Given the description of an element on the screen output the (x, y) to click on. 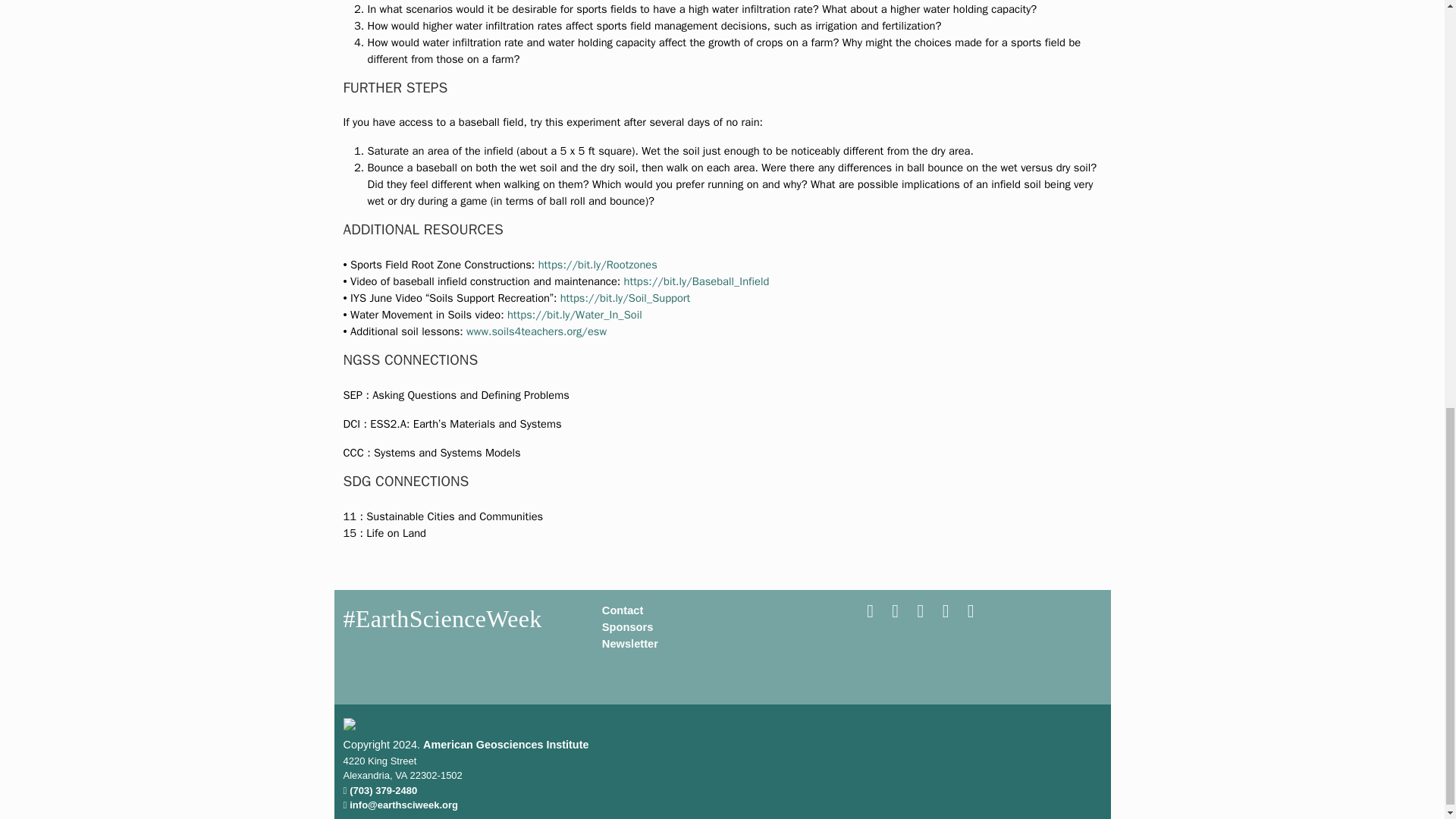
Visit Earth Science Week on Instagram (947, 613)
Visit the American Geosciences Institute on LinkedIn (969, 613)
Sponsors (627, 626)
American Geosciences Institute (505, 744)
Contact (622, 610)
Visit Earth Science Week on YouTube (922, 613)
Visit Earth Science Week on Twitter (896, 613)
Visit Earth Science Week on Facebook (871, 613)
Newsletter (630, 644)
